Given the description of an element on the screen output the (x, y) to click on. 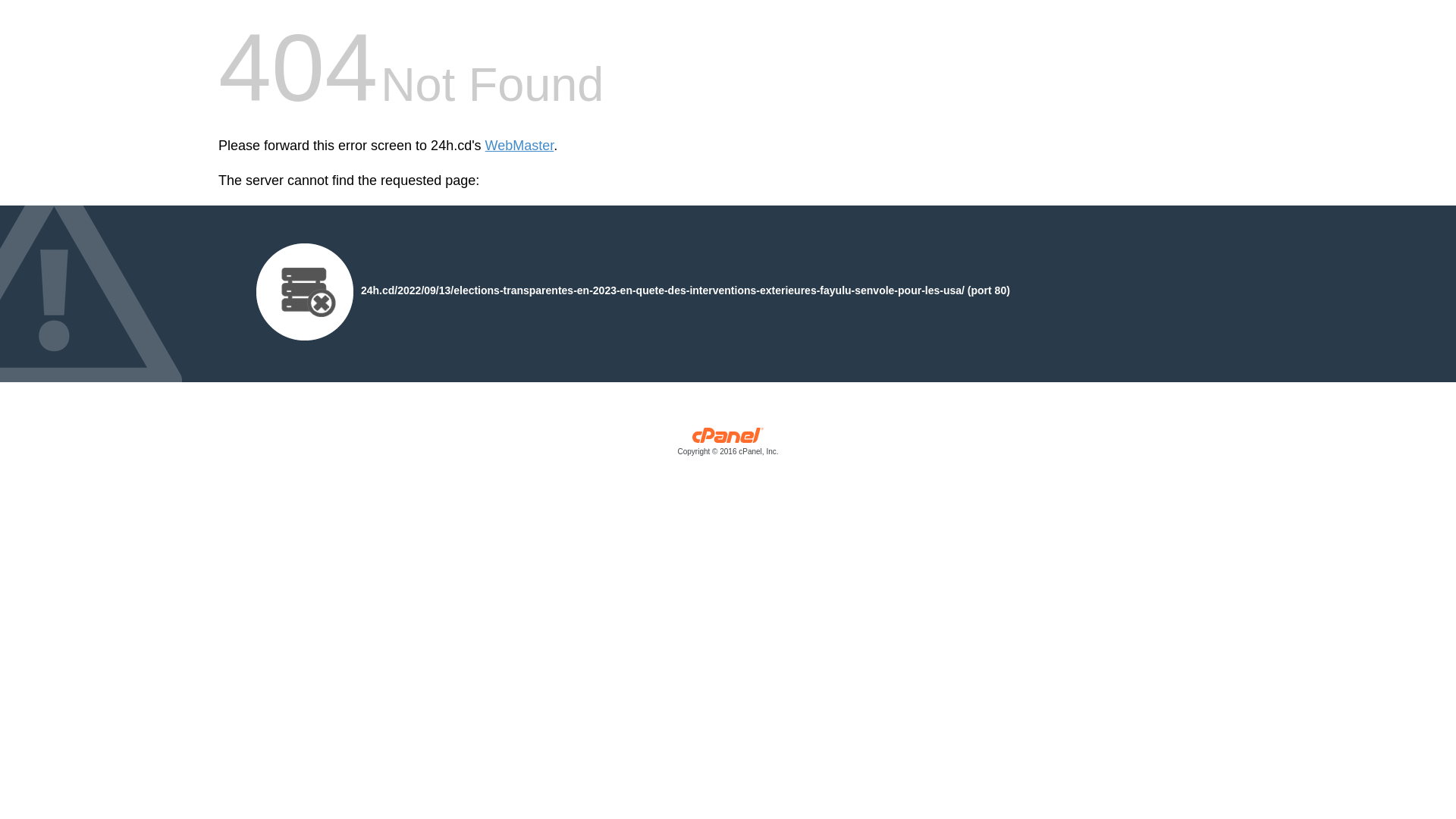
WebMaster Element type: text (519, 145)
